Given the description of an element on the screen output the (x, y) to click on. 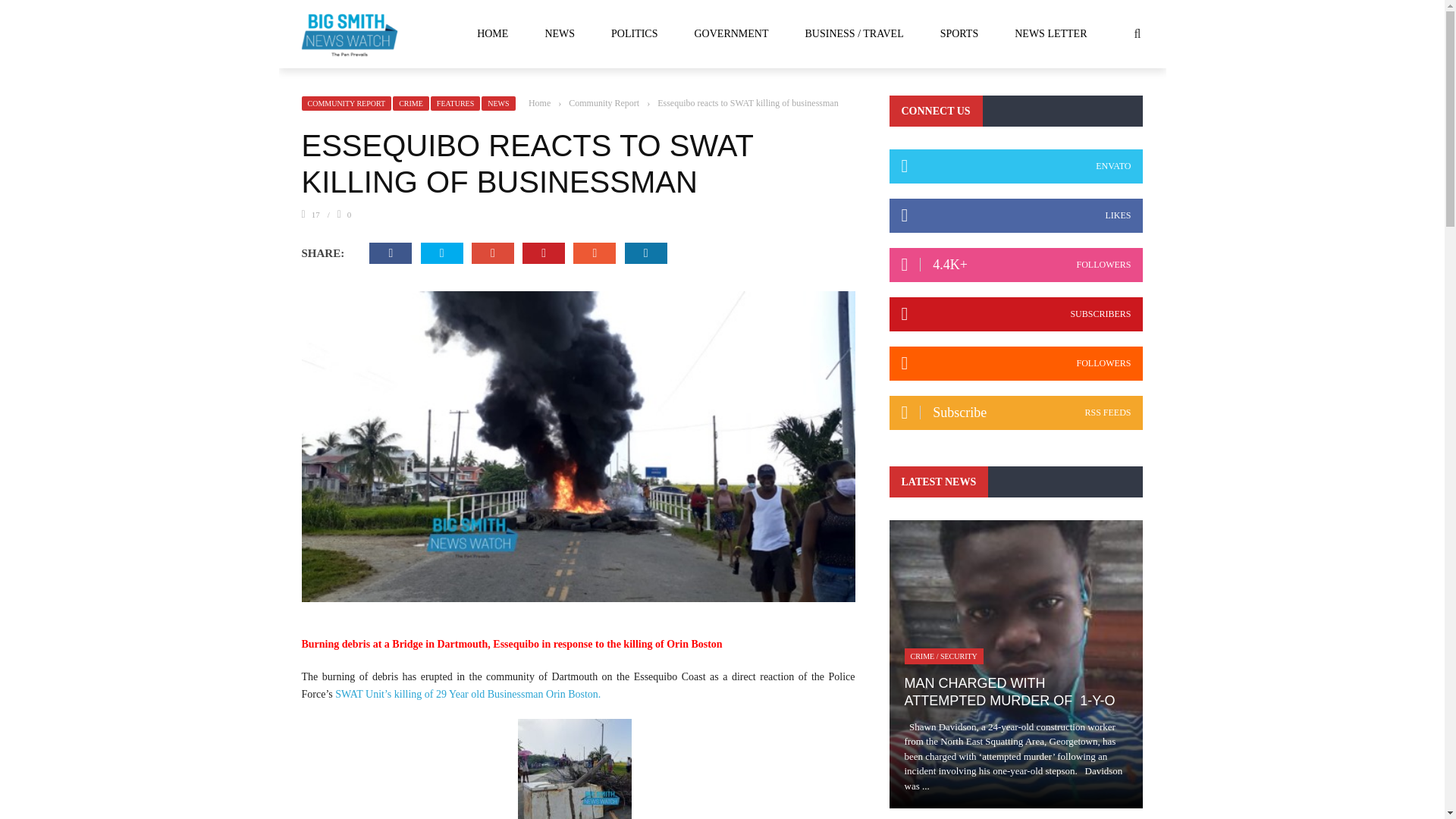
NEWS LETTER (1050, 33)
NEWS (498, 103)
GOVERNMENT (732, 33)
COMMUNITY REPORT (346, 103)
FEATURES (455, 103)
CRIME (411, 103)
Home (539, 102)
SPORTS (959, 33)
Community Report (604, 102)
POLITICS (633, 33)
NEWS (558, 33)
HOME (491, 33)
